Given the description of an element on the screen output the (x, y) to click on. 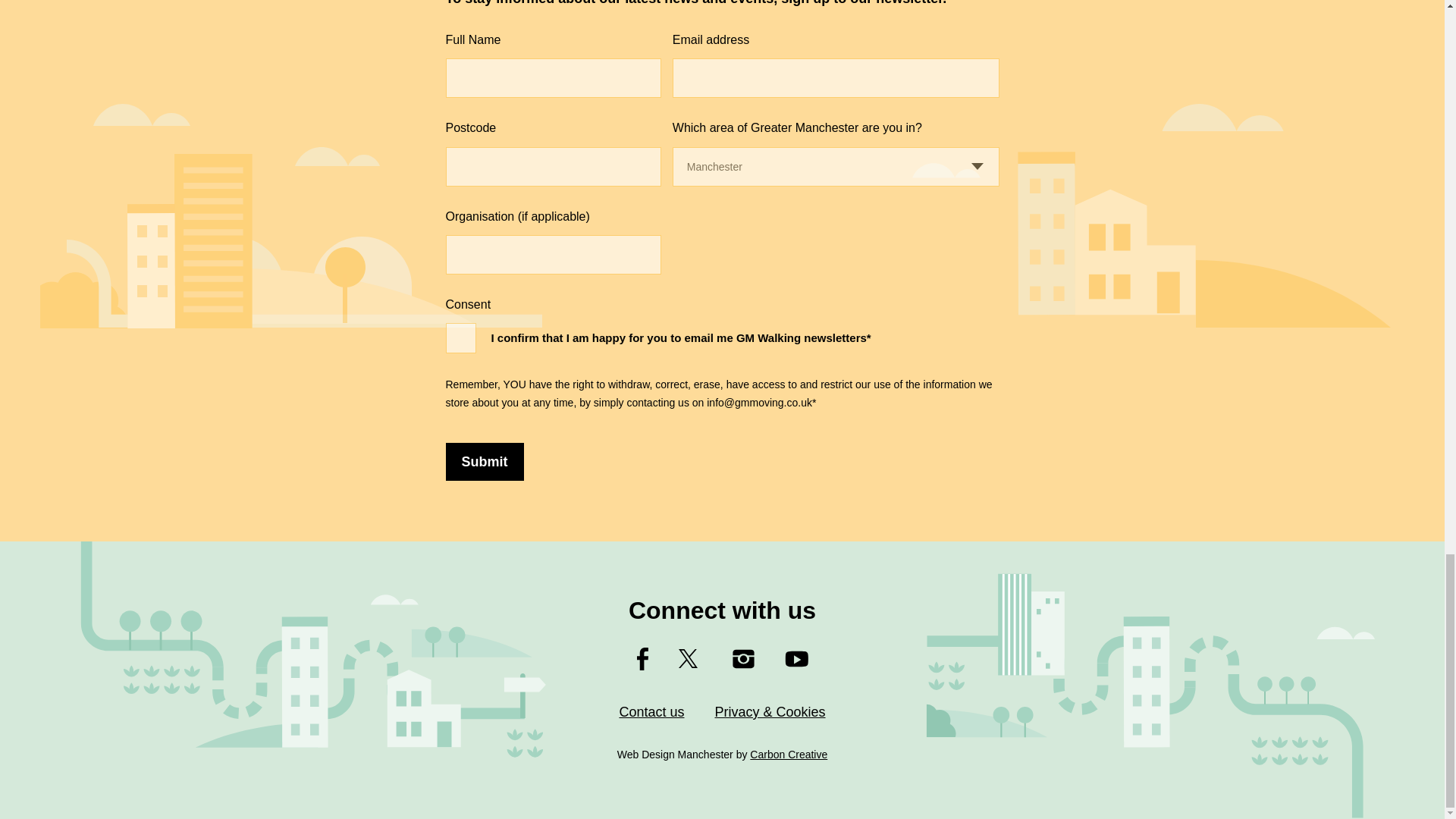
1 (460, 337)
Contact us (651, 711)
Submit (484, 461)
Submit (484, 461)
